Given the description of an element on the screen output the (x, y) to click on. 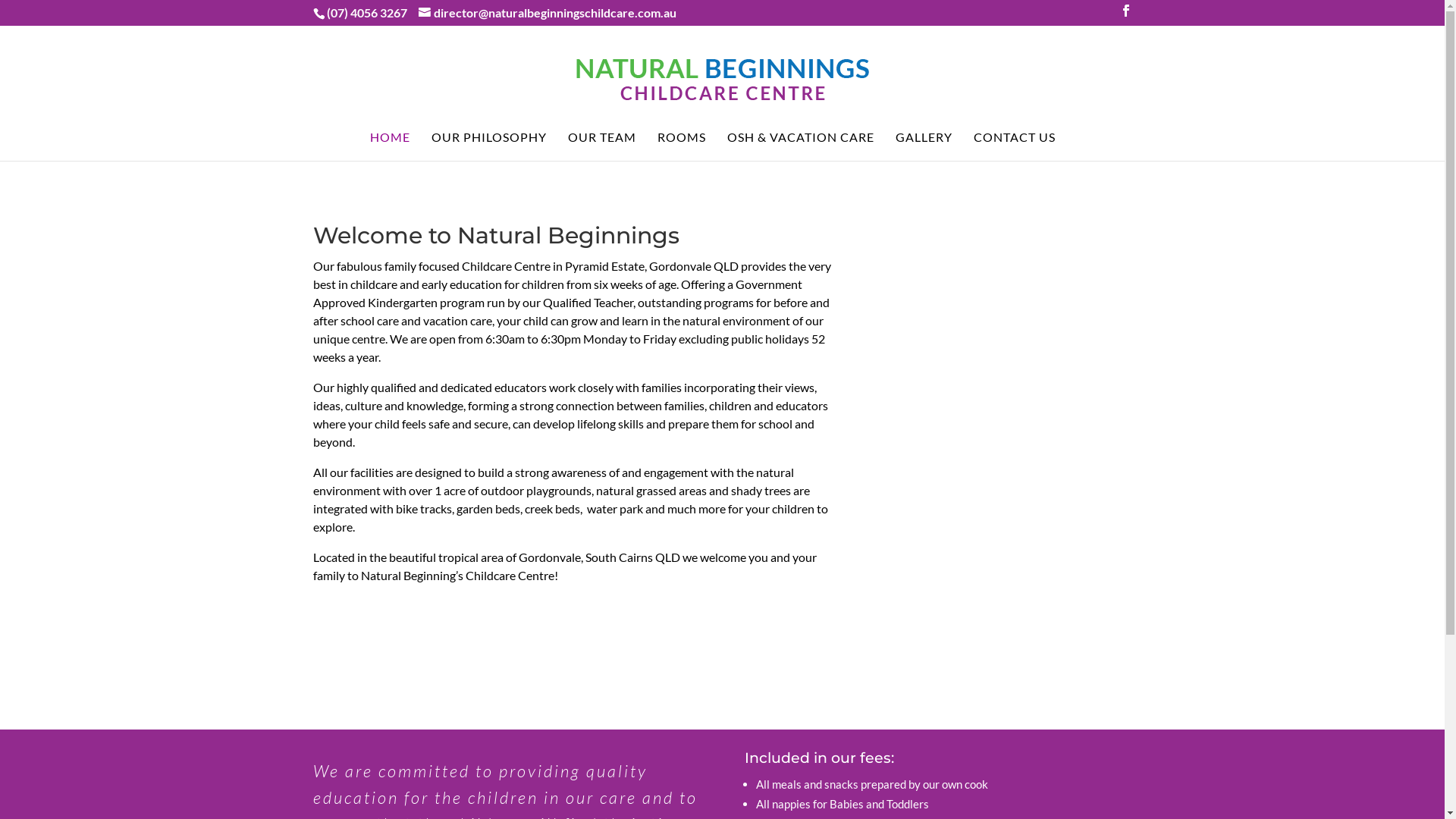
director@naturalbeginningschildcare.com.au Element type: text (547, 13)
OUR TEAM Element type: text (601, 145)
CONTACT US Element type: text (1014, 145)
OUR PHILOSOPHY Element type: text (488, 145)
ROOMS Element type: text (681, 145)
OSH & VACATION CARE Element type: text (800, 145)
HOME Element type: text (390, 145)
GALLERY Element type: text (923, 145)
